Given the description of an element on the screen output the (x, y) to click on. 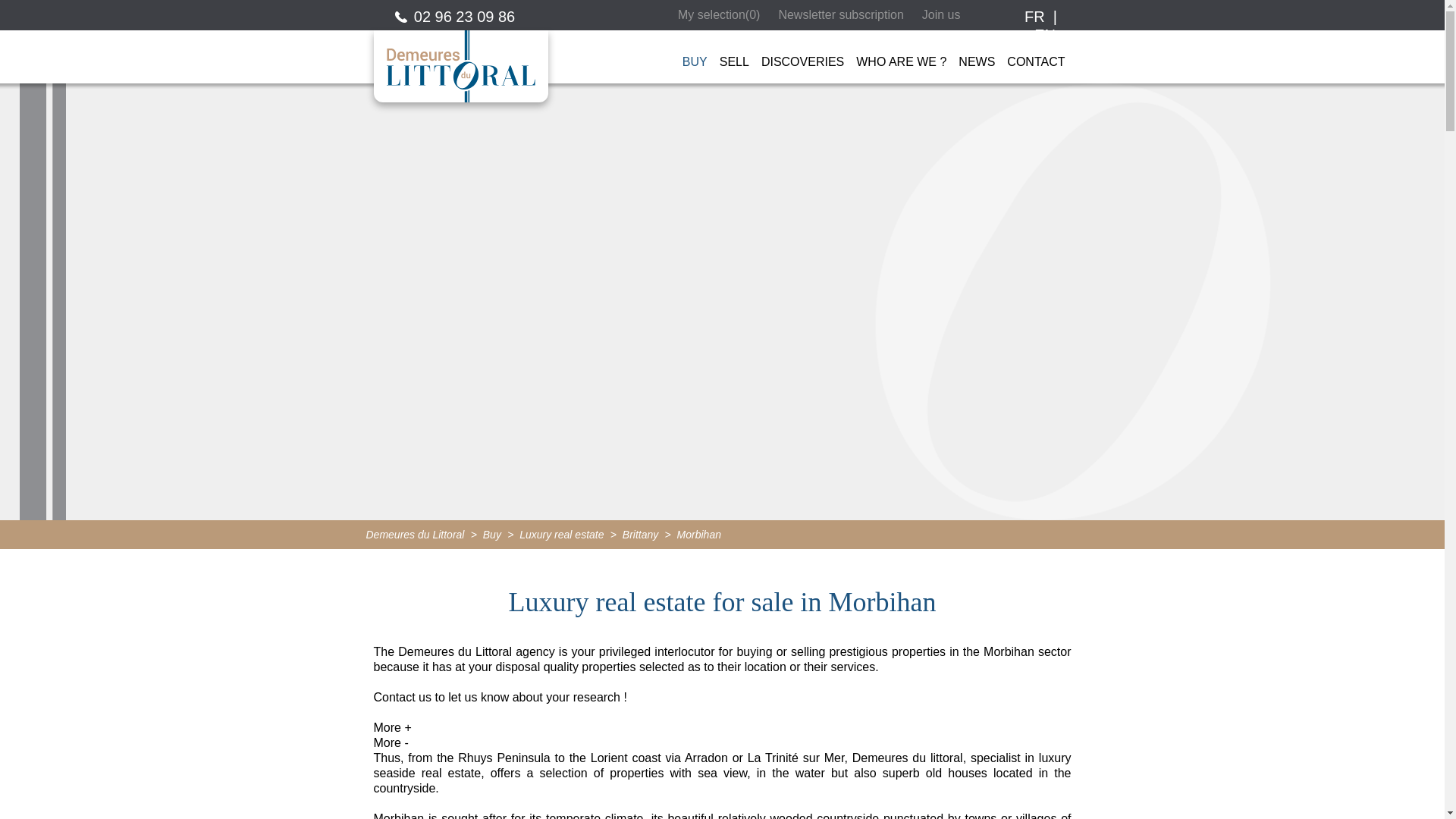
Luxury real estate (561, 533)
CONTACT (1035, 55)
FR (1035, 16)
Who are we ? (901, 55)
EN (1044, 34)
Join us (940, 14)
News (976, 55)
Demeures du Littoral (414, 533)
Real estate for sale in Brittany (640, 533)
Contact us ! (1035, 55)
